Given the description of an element on the screen output the (x, y) to click on. 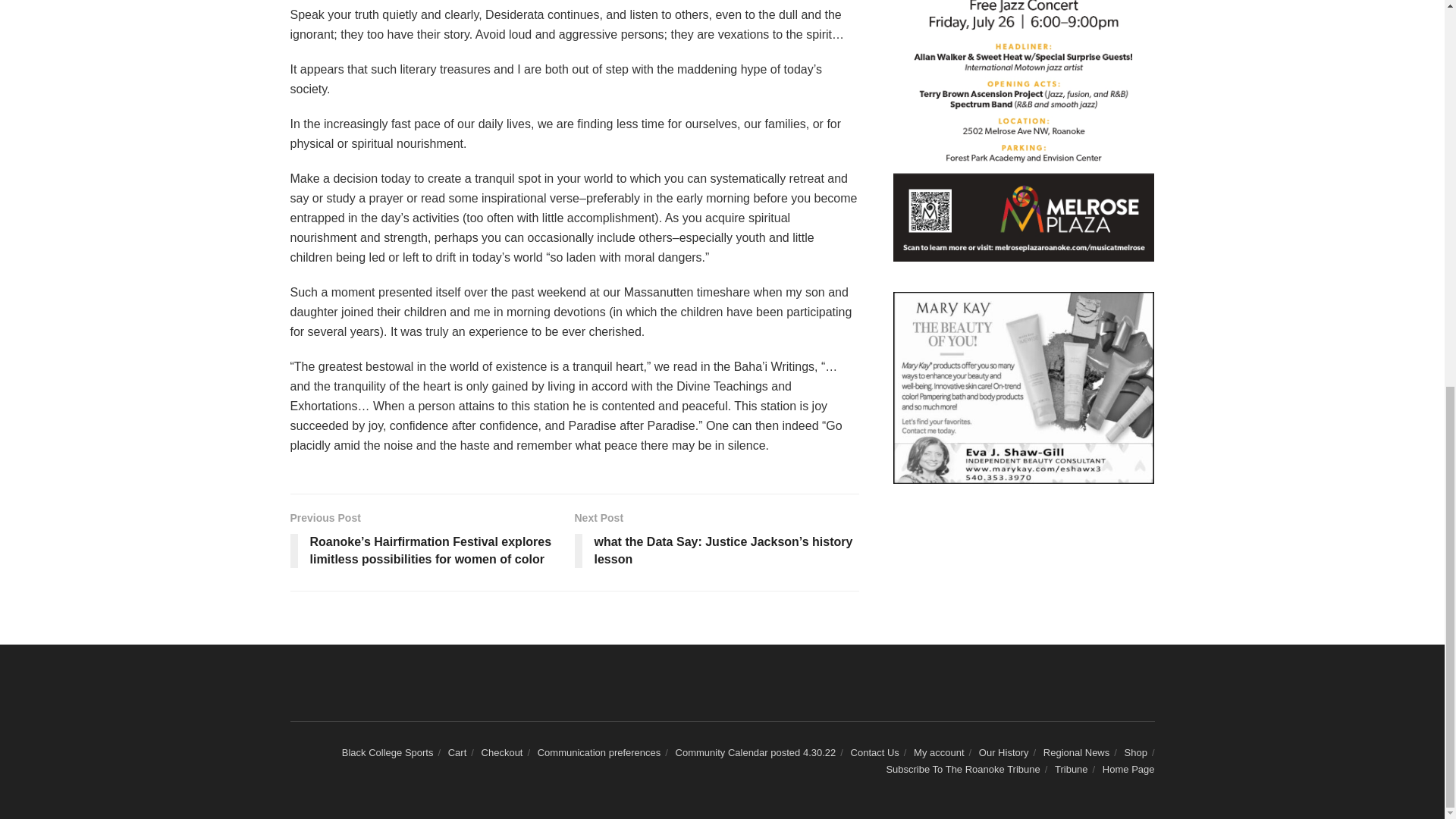
Checkout (501, 752)
Cart (457, 752)
Black College Sports (387, 752)
